Given the description of an element on the screen output the (x, y) to click on. 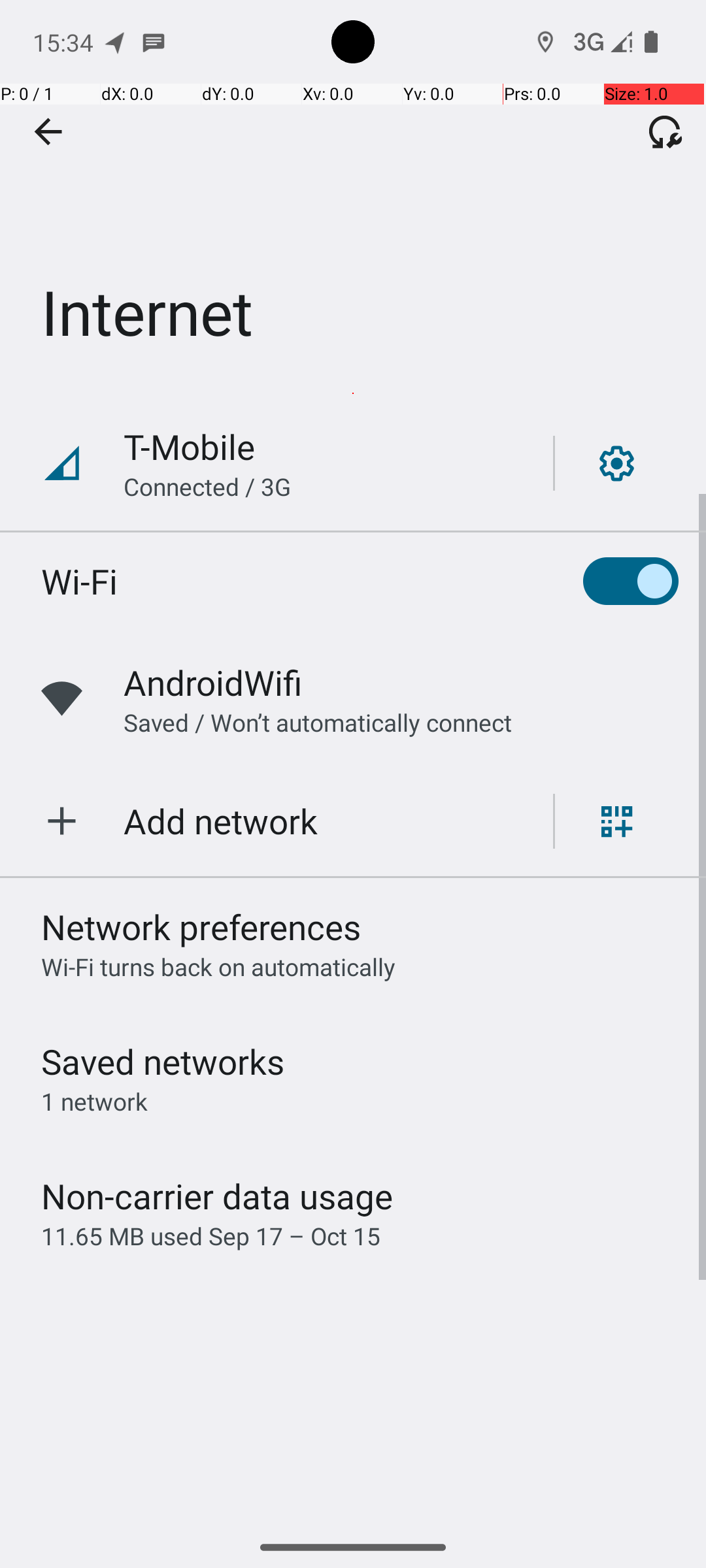
Internet Element type: android.widget.FrameLayout (353, 195)
Fix connectivity Element type: android.widget.TextView (664, 131)
AndroidWifi,Saved / Won’t automatically connect,Wifi signal full.,Open network Element type: android.widget.LinearLayout (353, 698)
T-Mobile Element type: android.widget.TextView (188, 446)
Connected / 3G Element type: android.widget.TextView (206, 486)
Wi-Fi Element type: android.widget.TextView (79, 580)
AndroidWifi Element type: android.widget.TextView (212, 682)
Saved / Won’t automatically connect Element type: android.widget.TextView (317, 721)
Add network Element type: android.widget.TextView (220, 820)
Scan QR code Element type: android.widget.ImageButton (616, 821)
Network preferences Element type: android.widget.TextView (201, 926)
Wi‑Fi turns back on automatically Element type: android.widget.TextView (218, 966)
Saved networks Element type: android.widget.TextView (163, 1061)
1 network Element type: android.widget.TextView (94, 1100)
Non-carrier data usage Element type: android.widget.TextView (216, 1195)
11.65 MB used Sep 17 – Oct 15 Element type: android.widget.TextView (210, 1235)
SMS Messenger notification: Noa Mohamed Element type: android.widget.ImageView (153, 41)
